Given the description of an element on the screen output the (x, y) to click on. 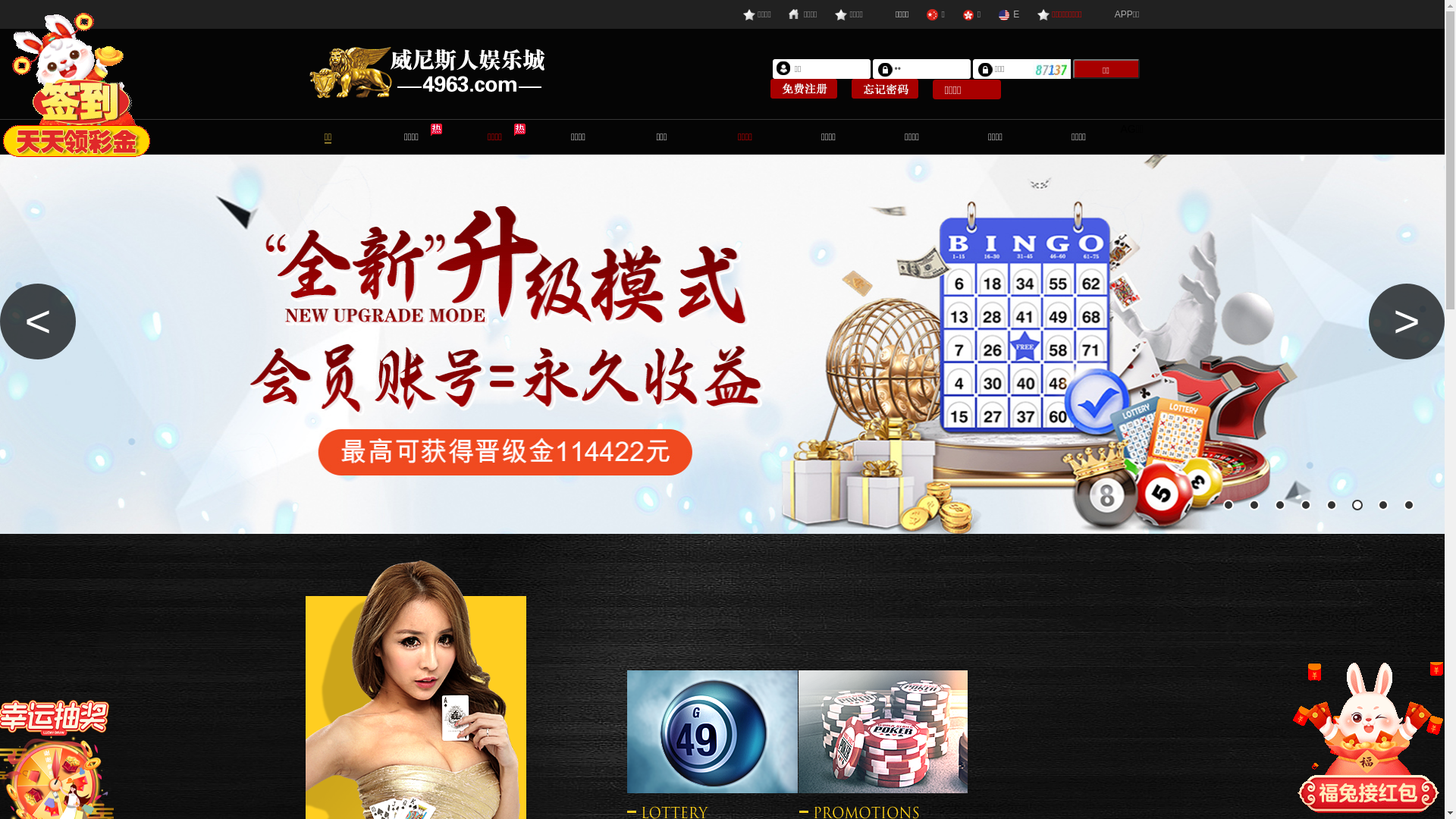
E Element type: text (1008, 14)
> Element type: text (1406, 321)
< Element type: text (37, 321)
